Given the description of an element on the screen output the (x, y) to click on. 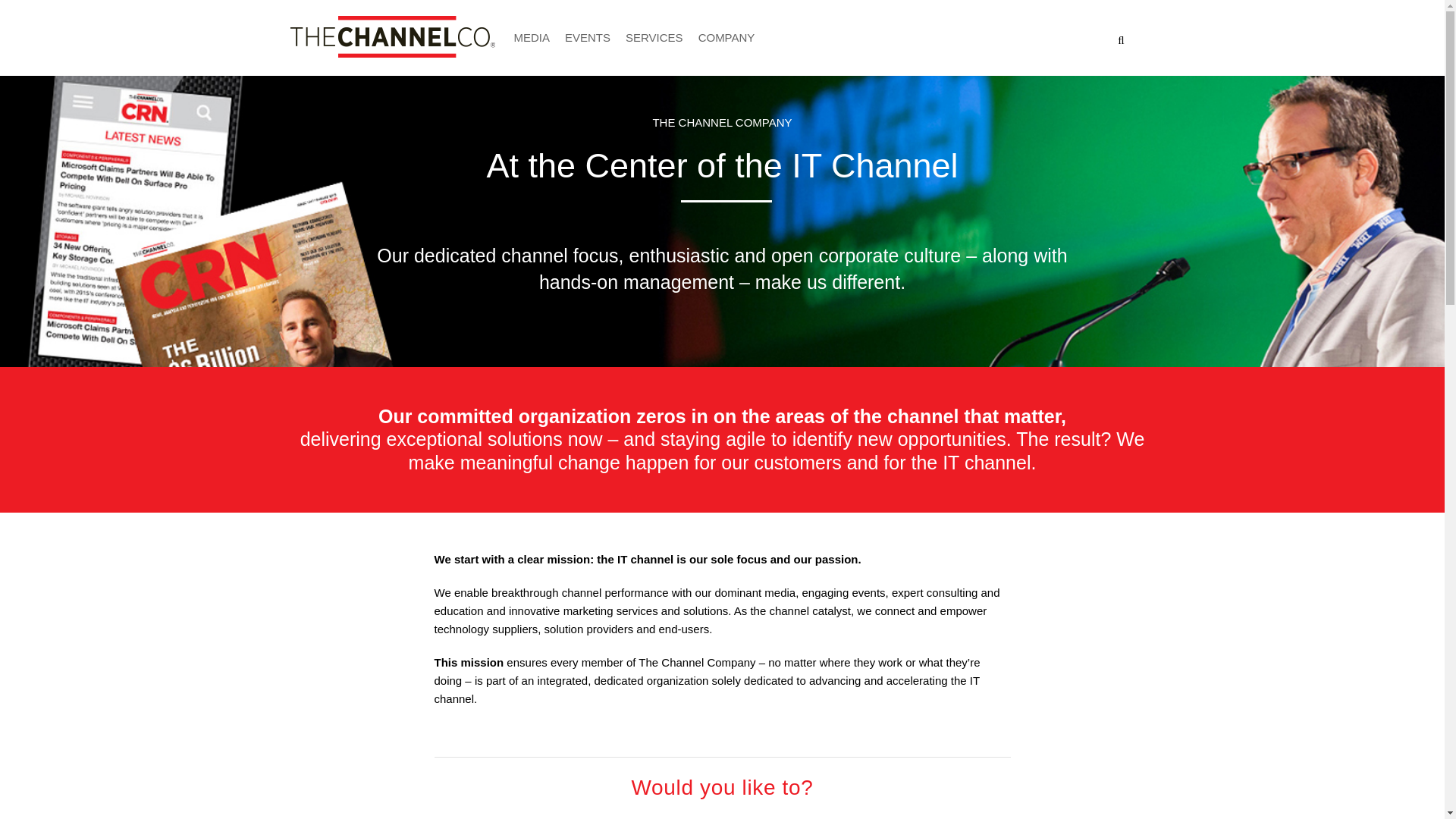
Media (531, 26)
Events (587, 26)
MEDIA (531, 26)
